Given the description of an element on the screen output the (x, y) to click on. 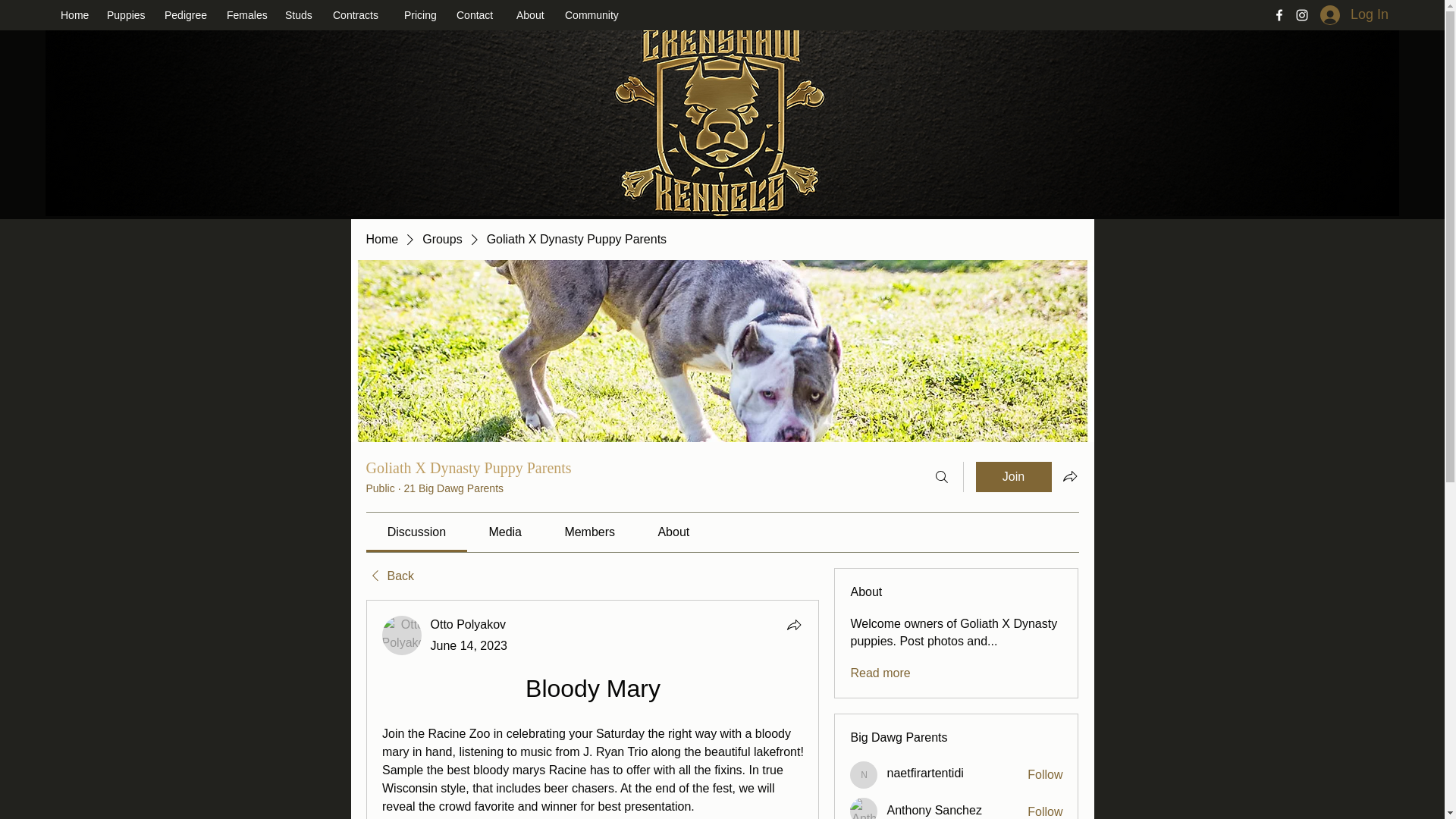
Log In (1338, 15)
naetfirartentidi (924, 773)
Otto Polyakov (468, 624)
Contracts (360, 15)
Read more (880, 673)
About (532, 15)
Contact (478, 15)
Groups (441, 239)
Females (248, 15)
Back (389, 576)
